Given the description of an element on the screen output the (x, y) to click on. 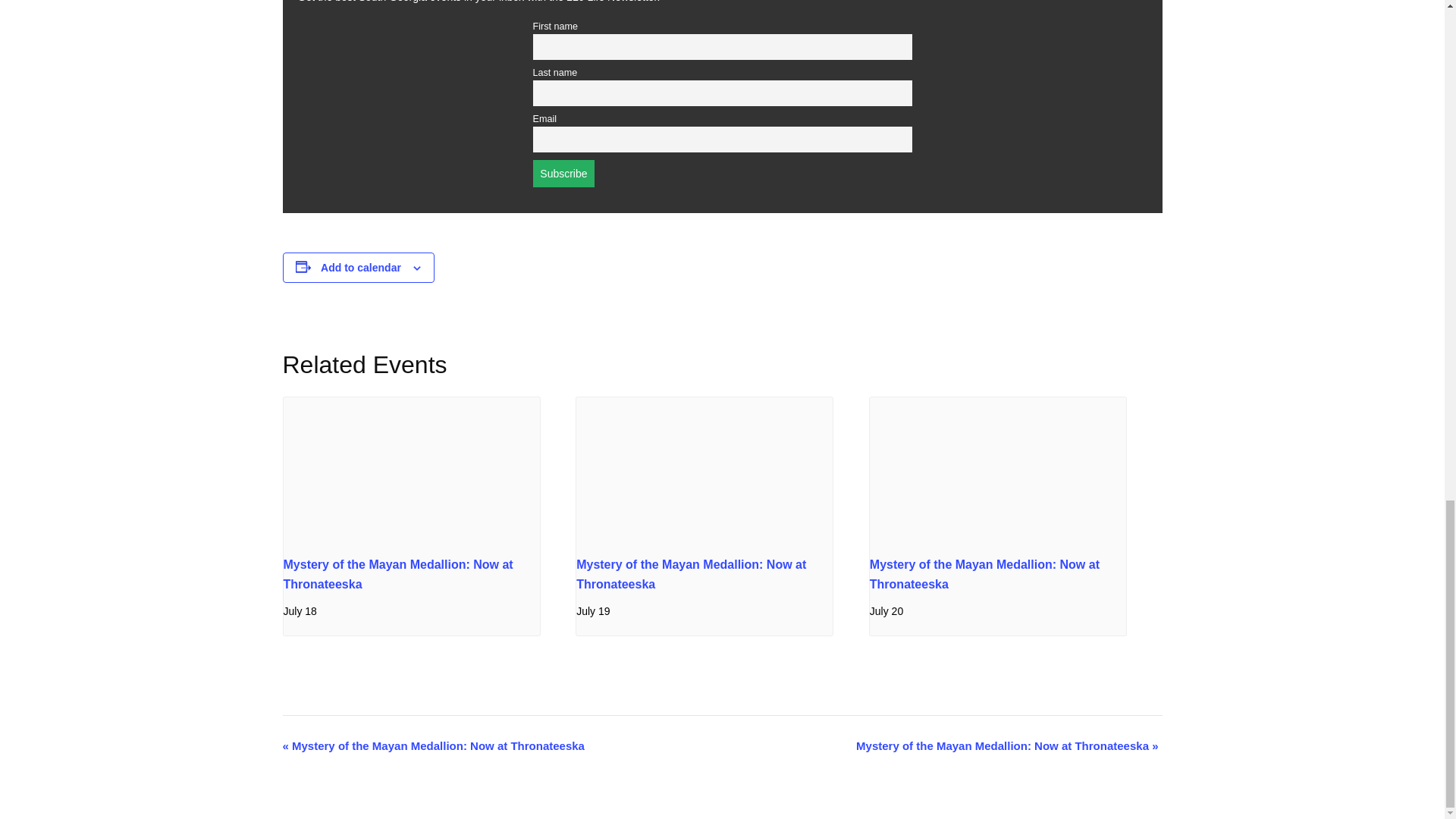
Add to calendar (360, 267)
Subscribe (563, 173)
Subscribe (563, 173)
